Given the description of an element on the screen output the (x, y) to click on. 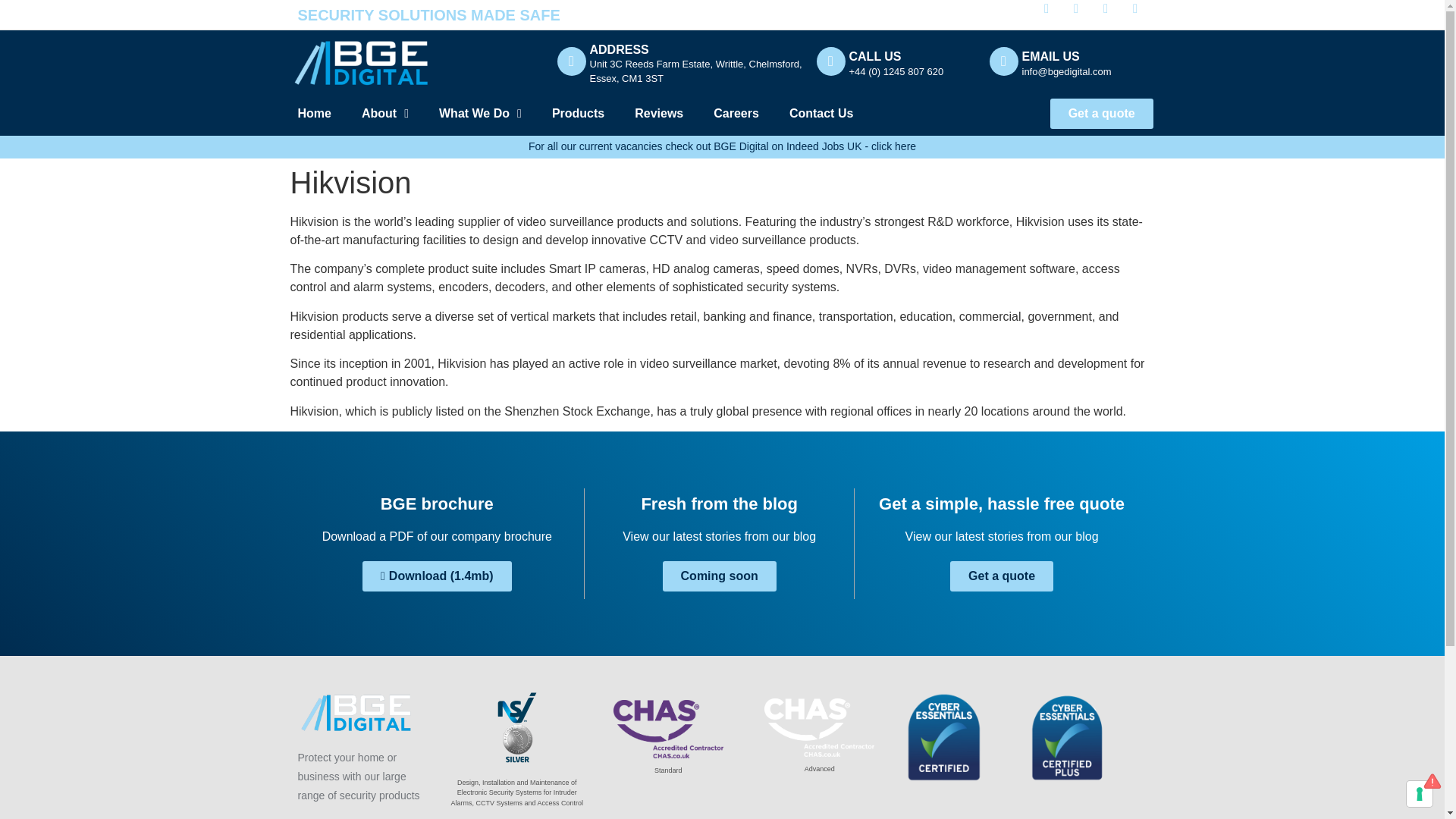
About (384, 113)
Reviews (658, 113)
Products (577, 113)
Home (313, 113)
Contact Us (820, 113)
Careers (736, 113)
What We Do (479, 113)
